Given the description of an element on the screen output the (x, y) to click on. 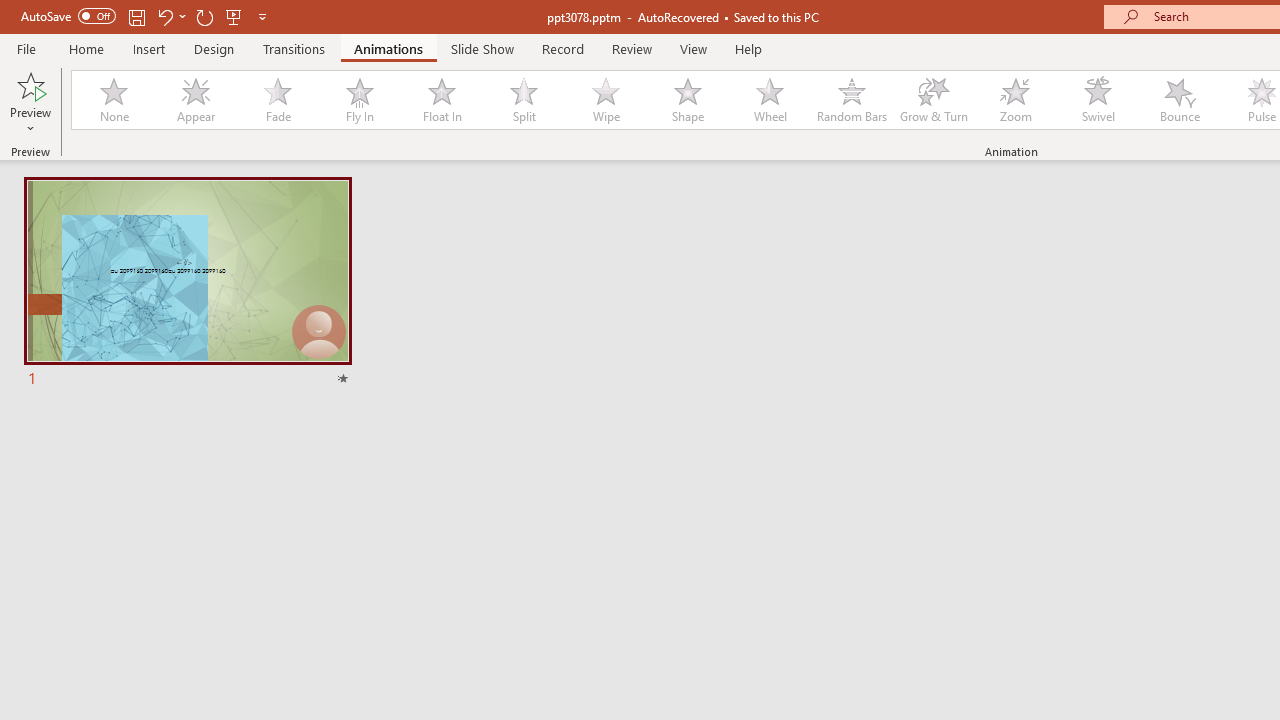
Float In (441, 100)
Appear (195, 100)
Fly In (359, 100)
